Given the description of an element on the screen output the (x, y) to click on. 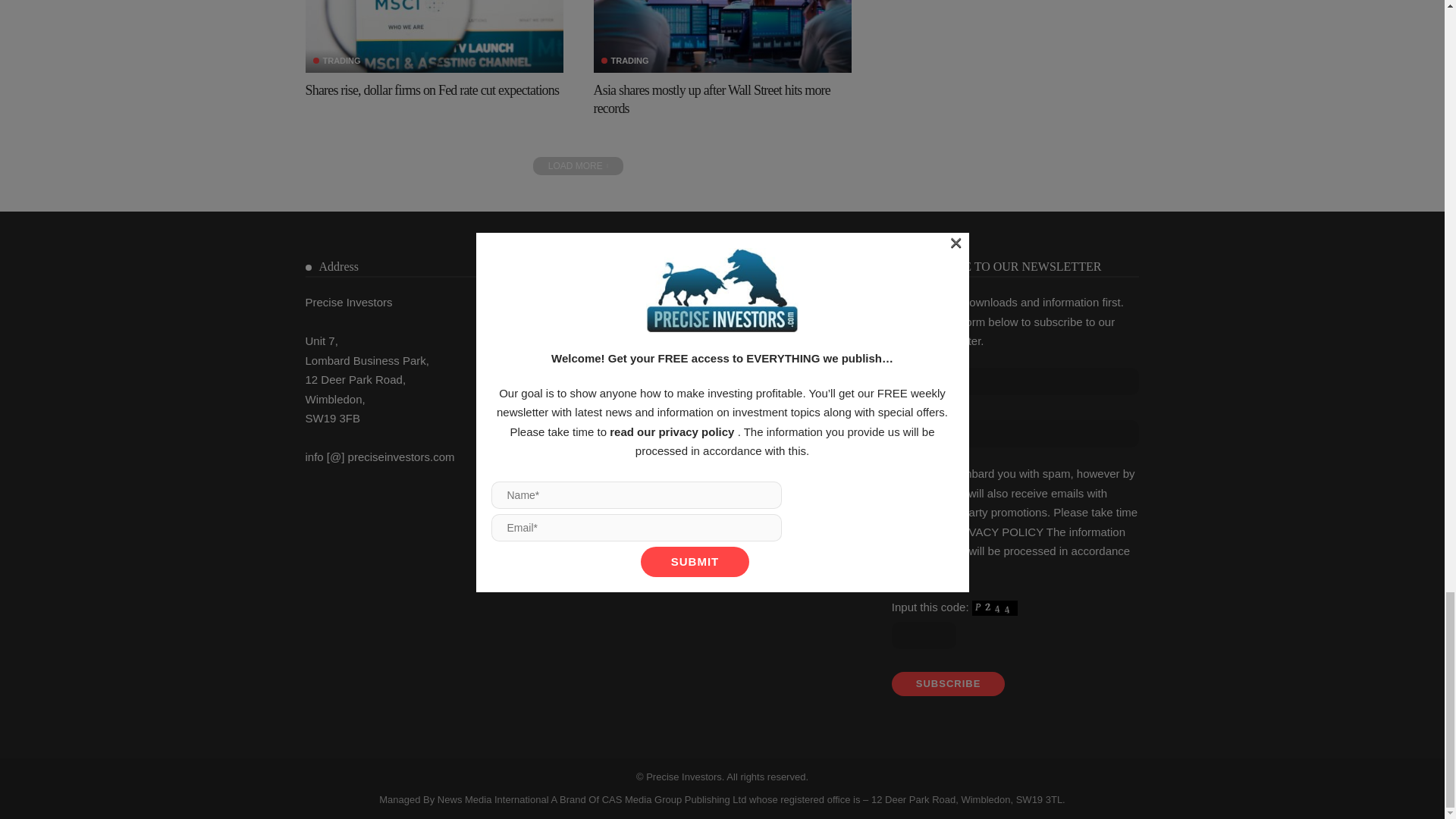
SUBSCRIBE (948, 683)
